Given the description of an element on the screen output the (x, y) to click on. 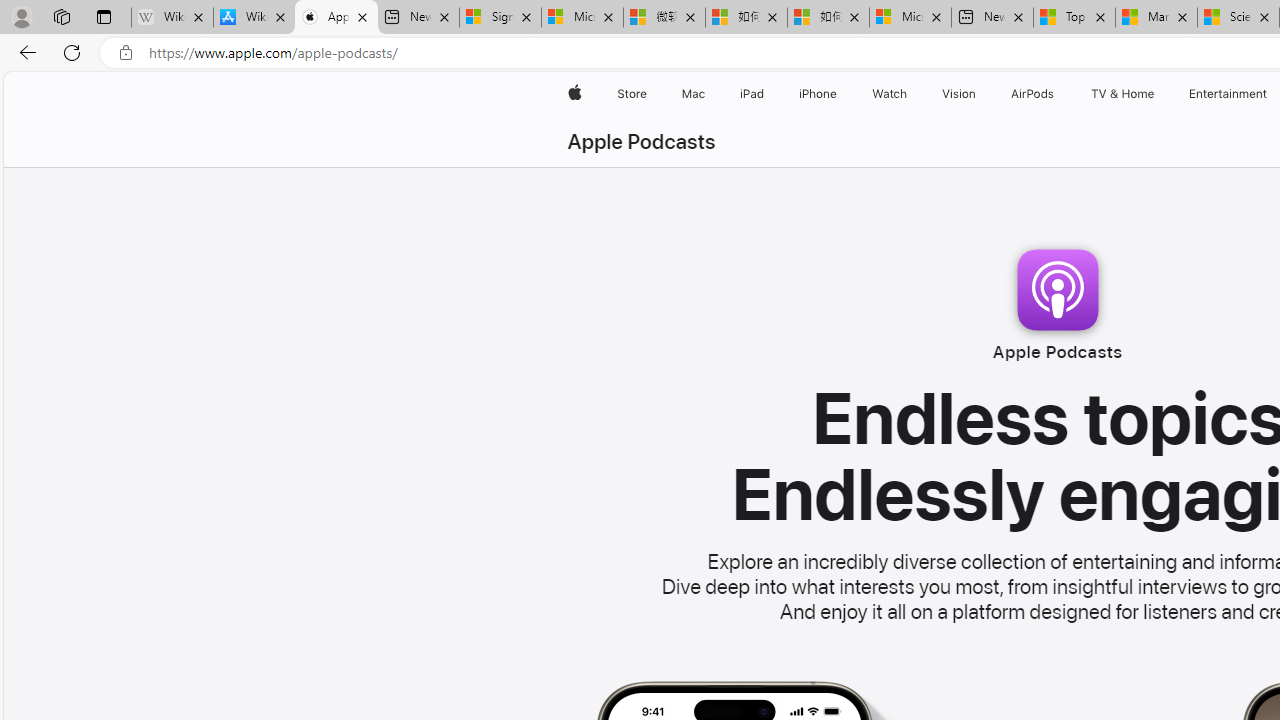
Mac menu (708, 93)
iPhone (818, 93)
Vision menu (980, 93)
iPad menu (767, 93)
Sign in to your Microsoft account (500, 17)
Mac (692, 93)
iPhone menu (840, 93)
Top Stories - MSN (1074, 17)
Vision (959, 93)
iPad (750, 93)
Watch menu (910, 93)
Watch (890, 93)
